Given the description of an element on the screen output the (x, y) to click on. 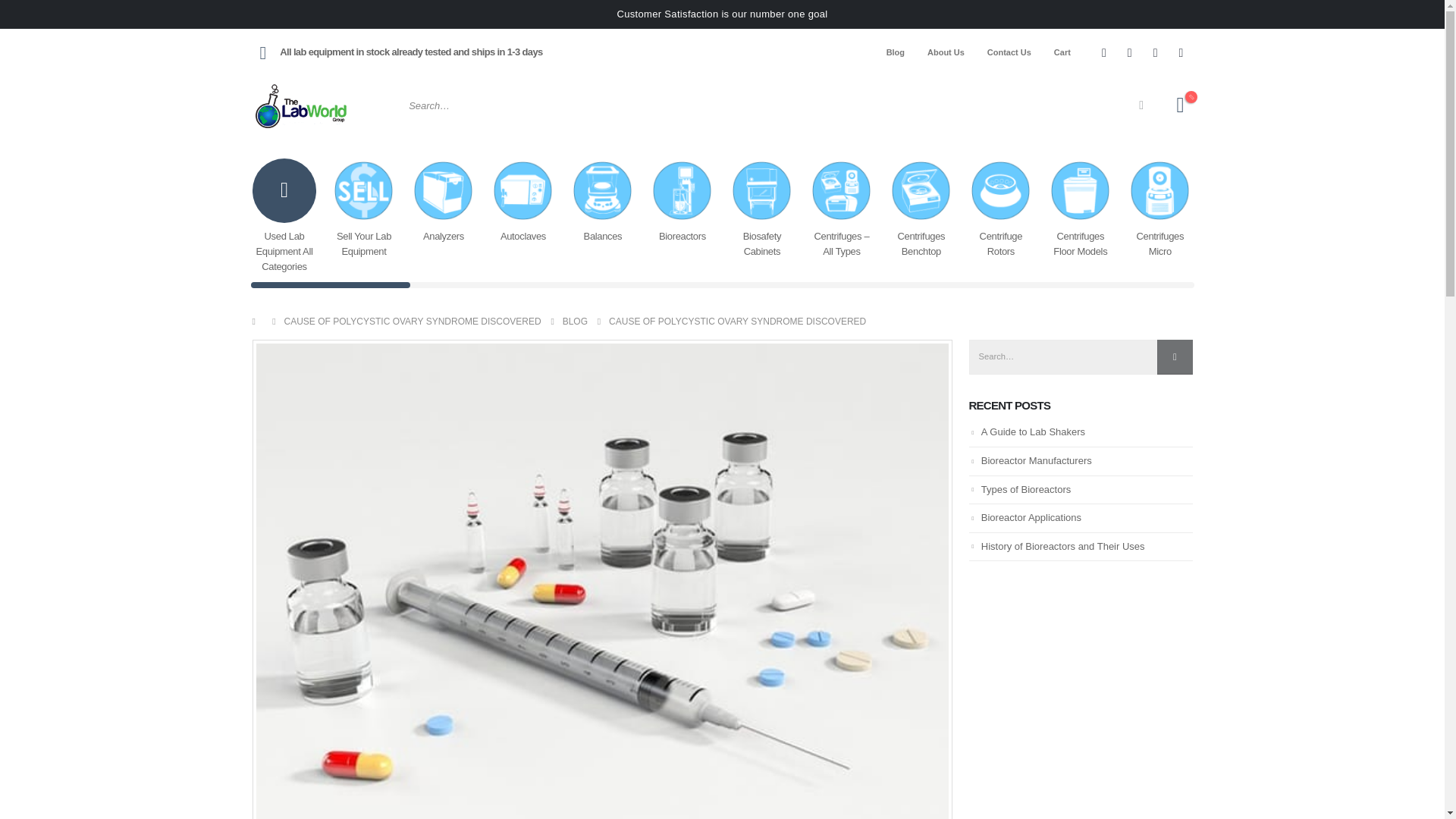
Facebook (1104, 52)
The Lab World Group - Used Lab Equipment Sellers (300, 105)
Instagram (1155, 52)
About Us (945, 52)
Cart (1061, 52)
LinkedIn (1181, 52)
Search (1141, 104)
Blog (895, 52)
Twitter (1129, 52)
Contact Us (1008, 52)
